Given the description of an element on the screen output the (x, y) to click on. 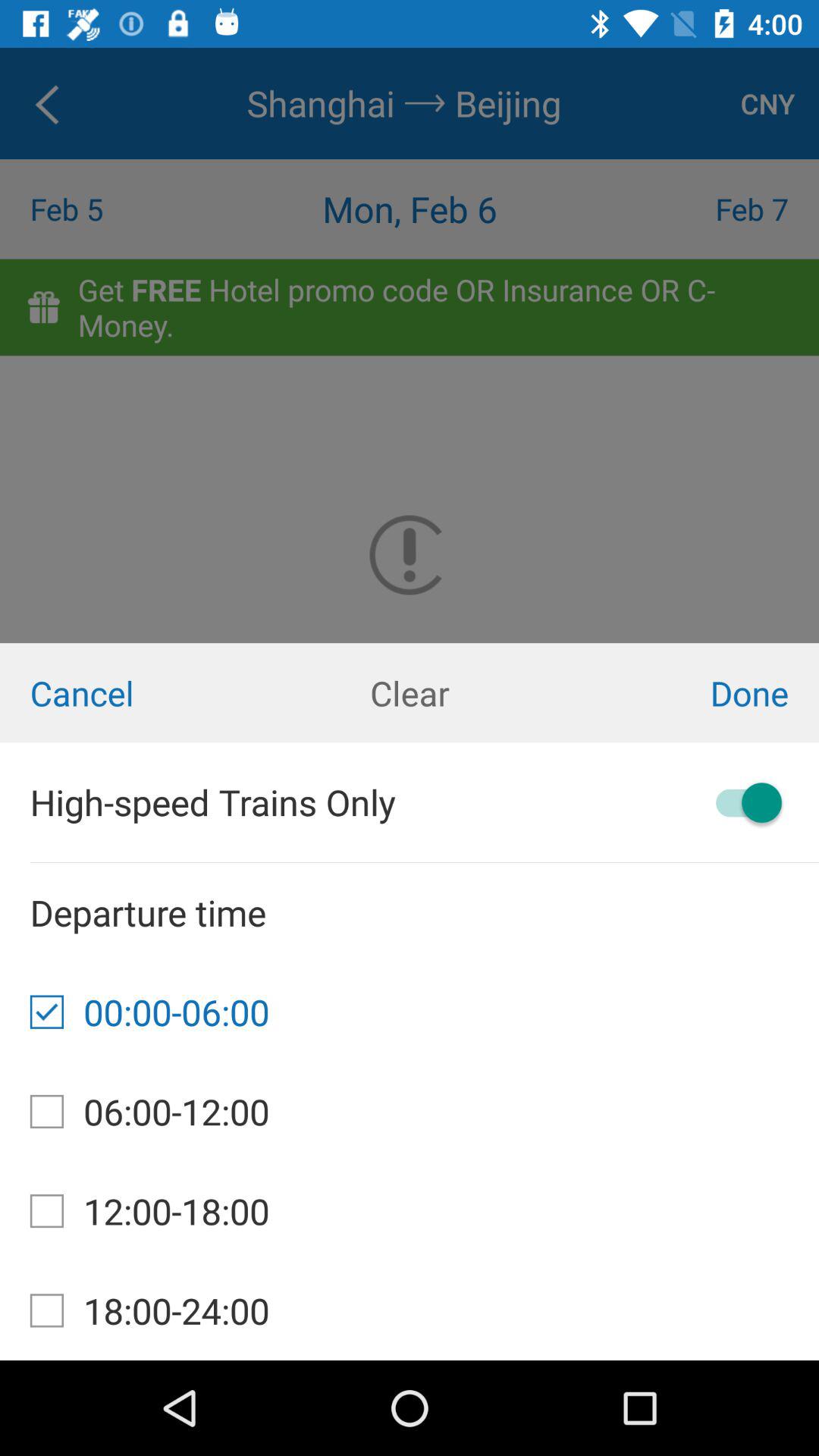
tap item above the high speed trains (409, 692)
